Given the description of an element on the screen output the (x, y) to click on. 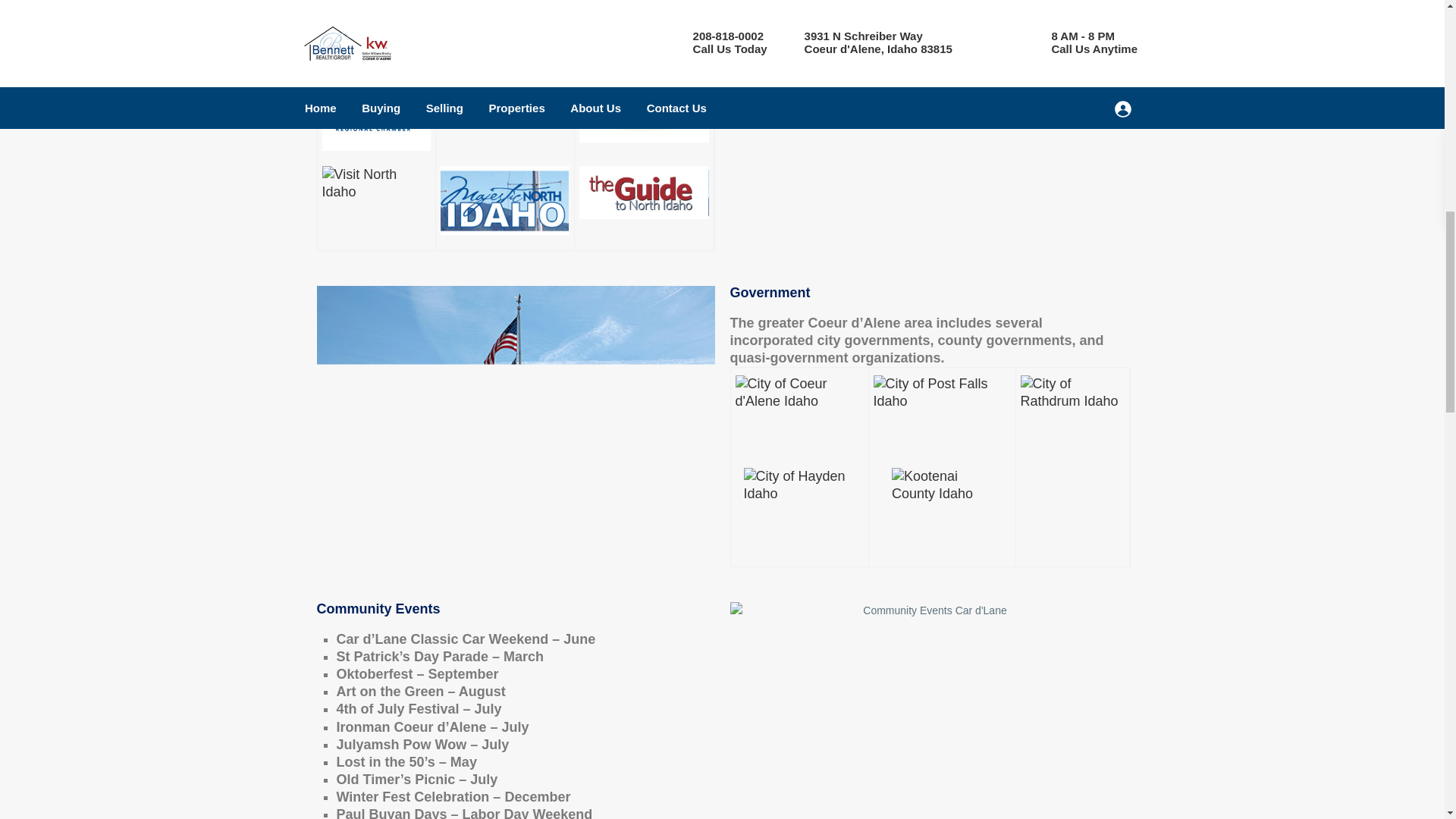
Coeur d'Alene Area Relocation Guide 4 (644, 104)
Coeur d'Alene Area Relocation Guide 13 (798, 507)
Coeur d'Alene Area Relocation Guide 6 (504, 200)
Coeur d'Alene Area Relocation Guide 11 (941, 401)
Coeur d'Alene Area Relocation Guide 10 (799, 409)
Coeur d'Alene Area Relocation Guide 5 (375, 204)
Coeur d'Alene Area Relocation Guide 7 (644, 192)
Coeur d'Alene Area Relocation Guide 3 (504, 96)
Coeur d'Alene Area Relocation Guide 15 (927, 710)
Coeur d'Alene Area Relocation Guide 8 (927, 104)
